Given the description of an element on the screen output the (x, y) to click on. 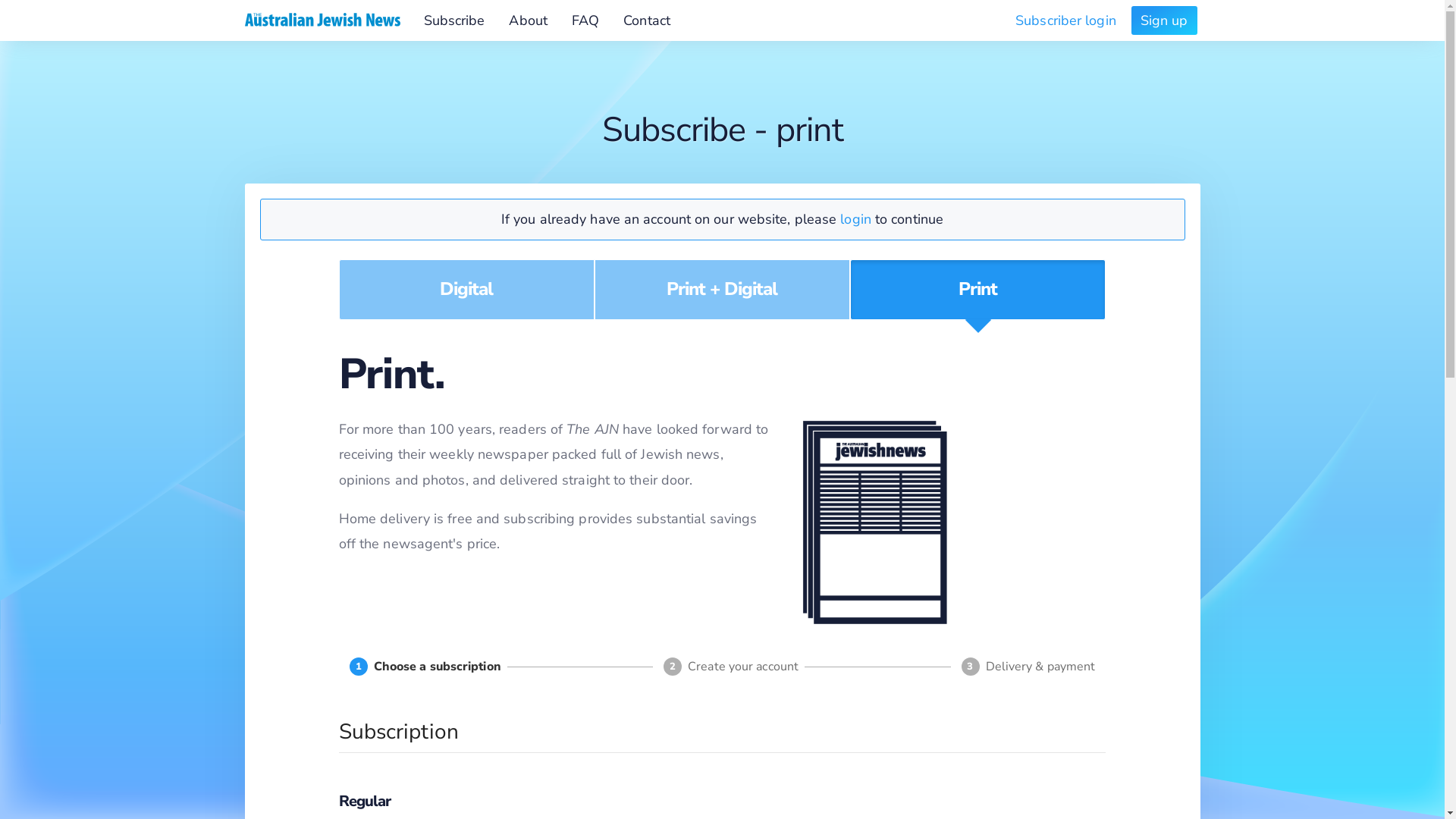
Print + Digital Element type: text (722, 289)
Digital Element type: text (466, 289)
Subscribe Element type: text (453, 20)
Print Element type: text (977, 289)
Subscriber login Element type: text (1065, 20)
Sign up Element type: text (1164, 20)
About Element type: text (527, 20)
login Element type: text (855, 218)
Login Element type: text (894, 208)
Contact Element type: text (646, 20)
FAQ Element type: text (585, 20)
